Given the description of an element on the screen output the (x, y) to click on. 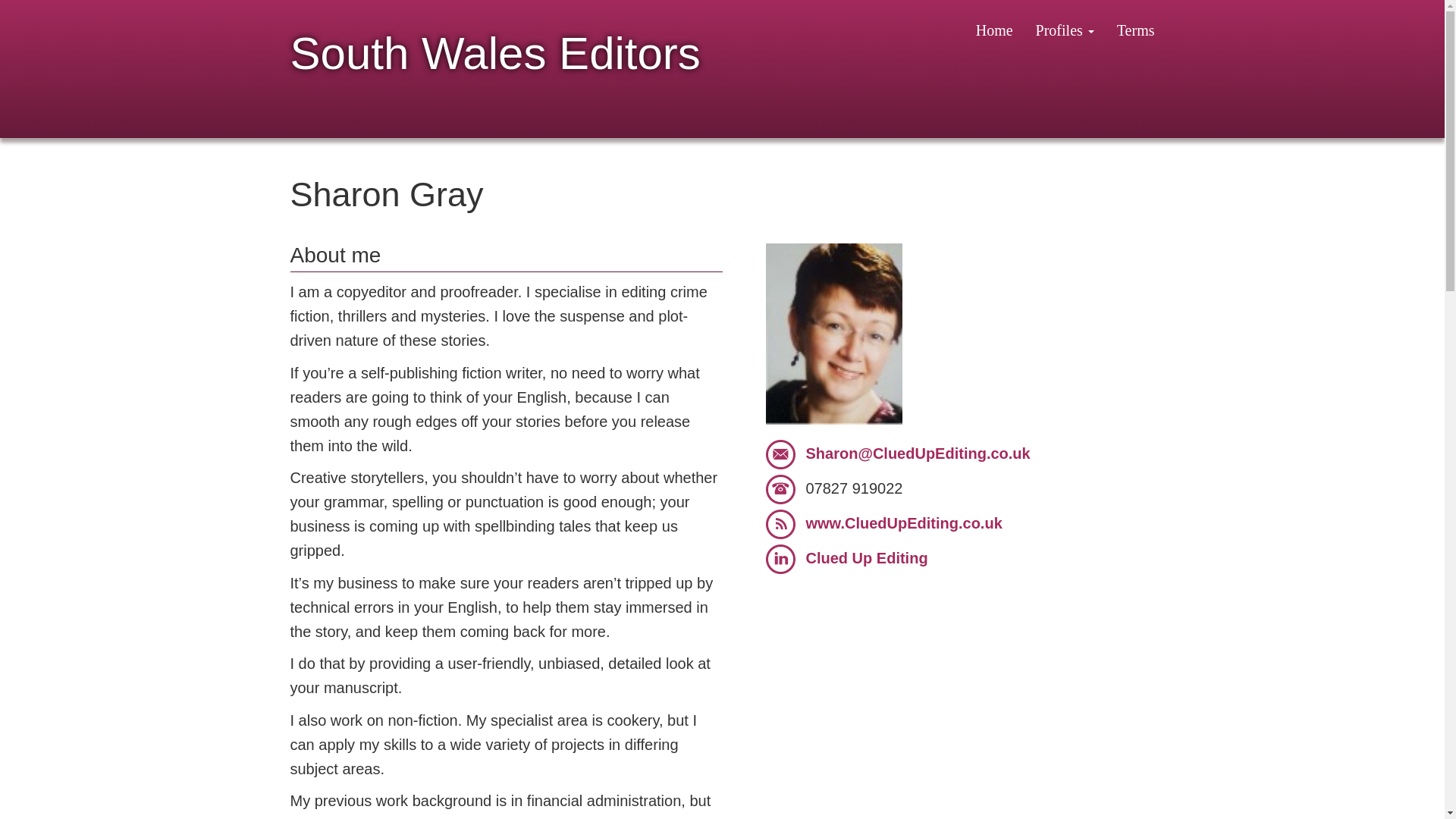
Profiles (1065, 30)
Terms (1135, 30)
South Wales Editors (495, 42)
Home (994, 30)
Clued Up Editing (866, 557)
Home (994, 30)
Profiles (1065, 30)
www.CluedUpEditing.co.uk (903, 523)
South Wales Editors (495, 42)
